Given the description of an element on the screen output the (x, y) to click on. 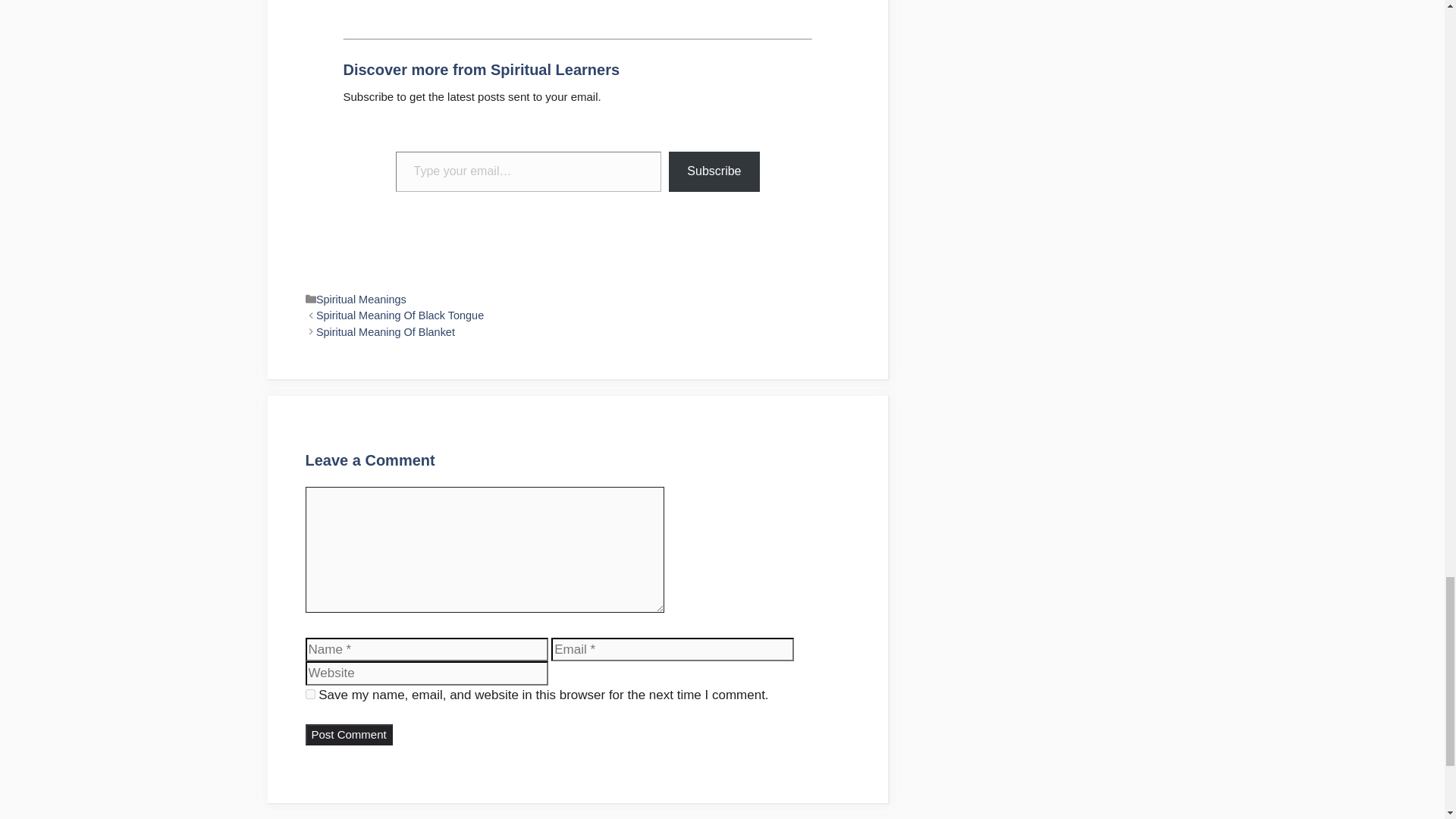
Spiritual Meanings (360, 299)
Please fill in this field. (529, 171)
Post Comment (347, 734)
Spiritual Meaning Of Black Tongue (399, 315)
Subscribe (713, 171)
Spiritual Meaning Of Blanket (384, 331)
yes (309, 694)
Post Comment (347, 734)
